Given the description of an element on the screen output the (x, y) to click on. 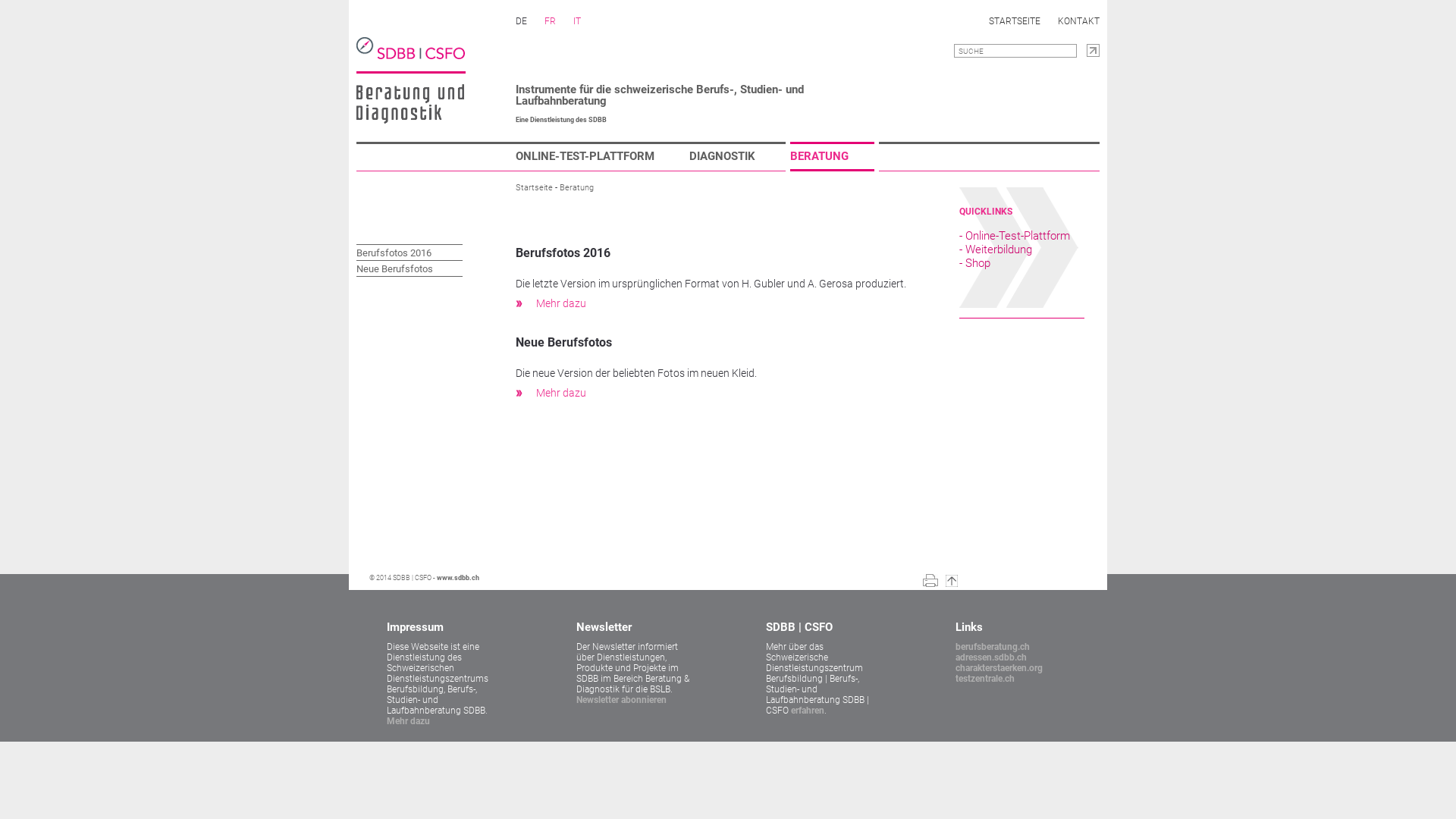
Startseite Element type: text (533, 187)
erfahren Element type: text (807, 710)
- Weiterbildung Element type: text (995, 249)
DIAGNOSTIK Element type: text (735, 156)
KONTAKT Element type: text (1078, 20)
Newsletter abonnieren Element type: text (621, 699)
Beratung und Diagnostik Element type: hover (410, 103)
ONLINE-TEST-PLATTFORM Element type: text (597, 156)
berufsberatung.ch Element type: text (992, 646)
FR Element type: text (549, 20)
Mehr dazu Element type: text (561, 303)
- Online-Test-Plattform Element type: text (1014, 235)
Mehr dazu Element type: text (407, 720)
Mehr dazu Element type: text (561, 392)
QUICKLINKS Element type: text (985, 211)
IT Element type: text (576, 20)
adressen.sdbb.ch Element type: text (990, 657)
STARTSEITE Element type: text (1014, 20)
- Shop Element type: text (974, 262)
BERATUNG Element type: text (832, 156)
www.sdbb.ch Element type: text (457, 577)
charakterstaerken.org Element type: text (998, 667)
Berufsfotos 2016 Element type: text (393, 252)
Neue Berufsfotos Element type: text (394, 268)
Beratung Element type: text (576, 187)
testzentrale.ch Element type: text (984, 678)
